Given the description of an element on the screen output the (x, y) to click on. 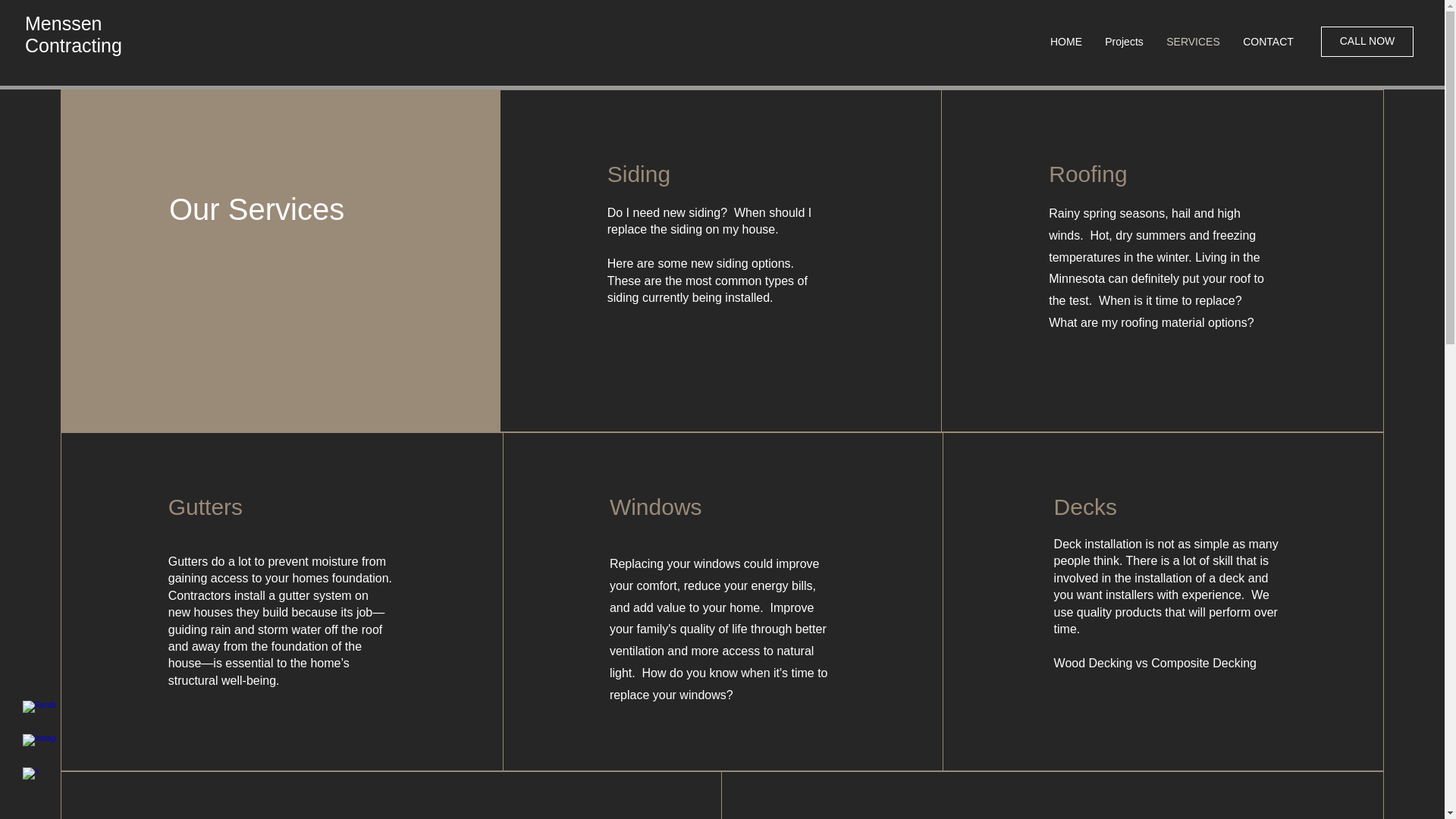
Menssen Contracting (73, 34)
SERVICES (1192, 41)
CONTACT (1267, 41)
Projects (1123, 41)
HOME (1066, 41)
CALL NOW (1366, 41)
